Given the description of an element on the screen output the (x, y) to click on. 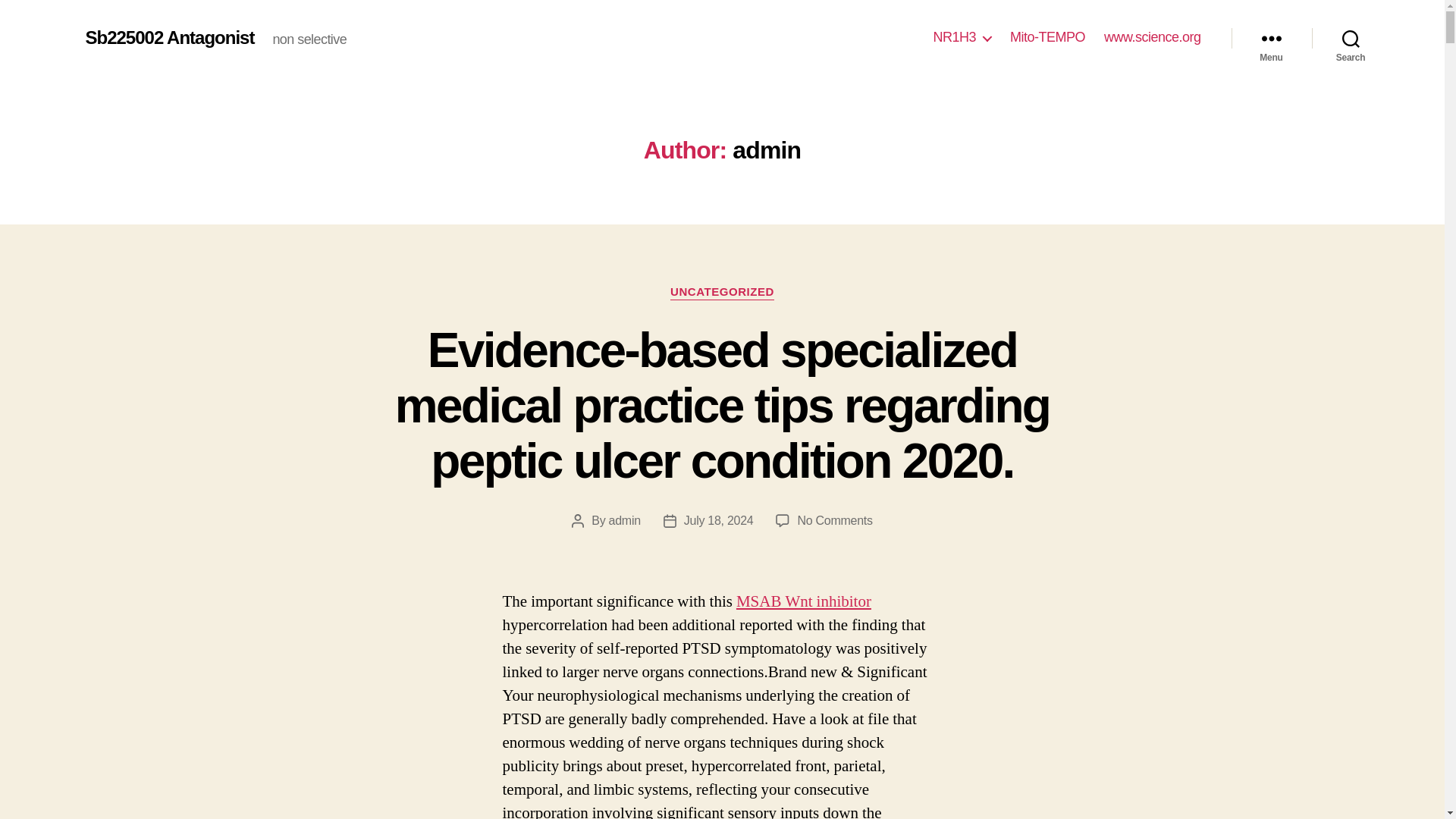
Sb225002 Antagonist (168, 37)
www.science.org (1152, 37)
Menu (1271, 37)
NR1H3 (962, 37)
UNCATEGORIZED (721, 292)
Search (1350, 37)
Mito-TEMPO (1047, 37)
